Given the description of an element on the screen output the (x, y) to click on. 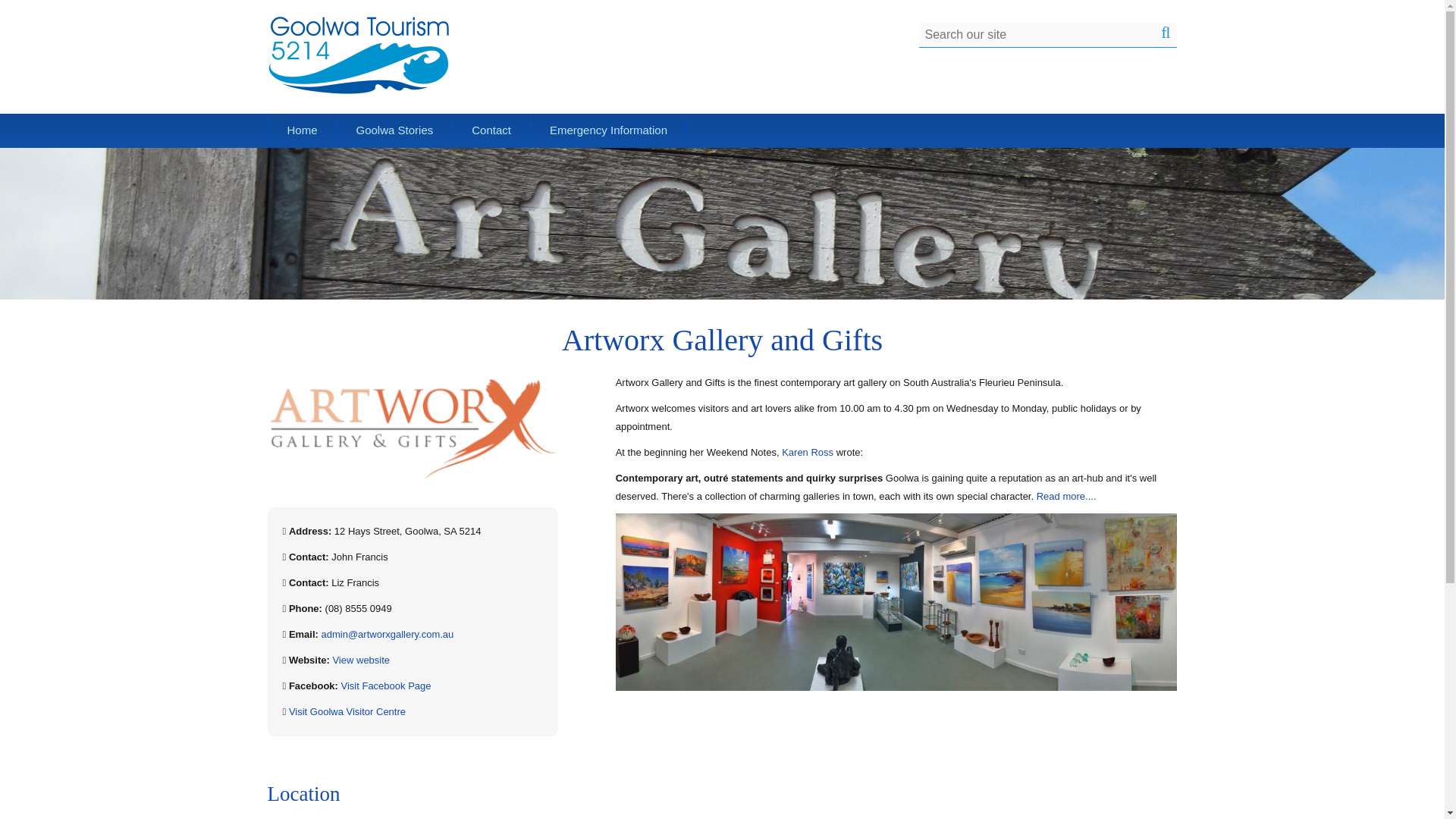
Goolwa Stories (394, 130)
Visit Goolwa Visitor Centre (347, 711)
View website (360, 659)
Contact (490, 130)
Visit Facebook Page (385, 685)
Karen Ross (806, 451)
Home (301, 130)
Goolwa Tourism 5214 (357, 55)
Read more.... (1066, 496)
Emergency Information (608, 130)
